Given the description of an element on the screen output the (x, y) to click on. 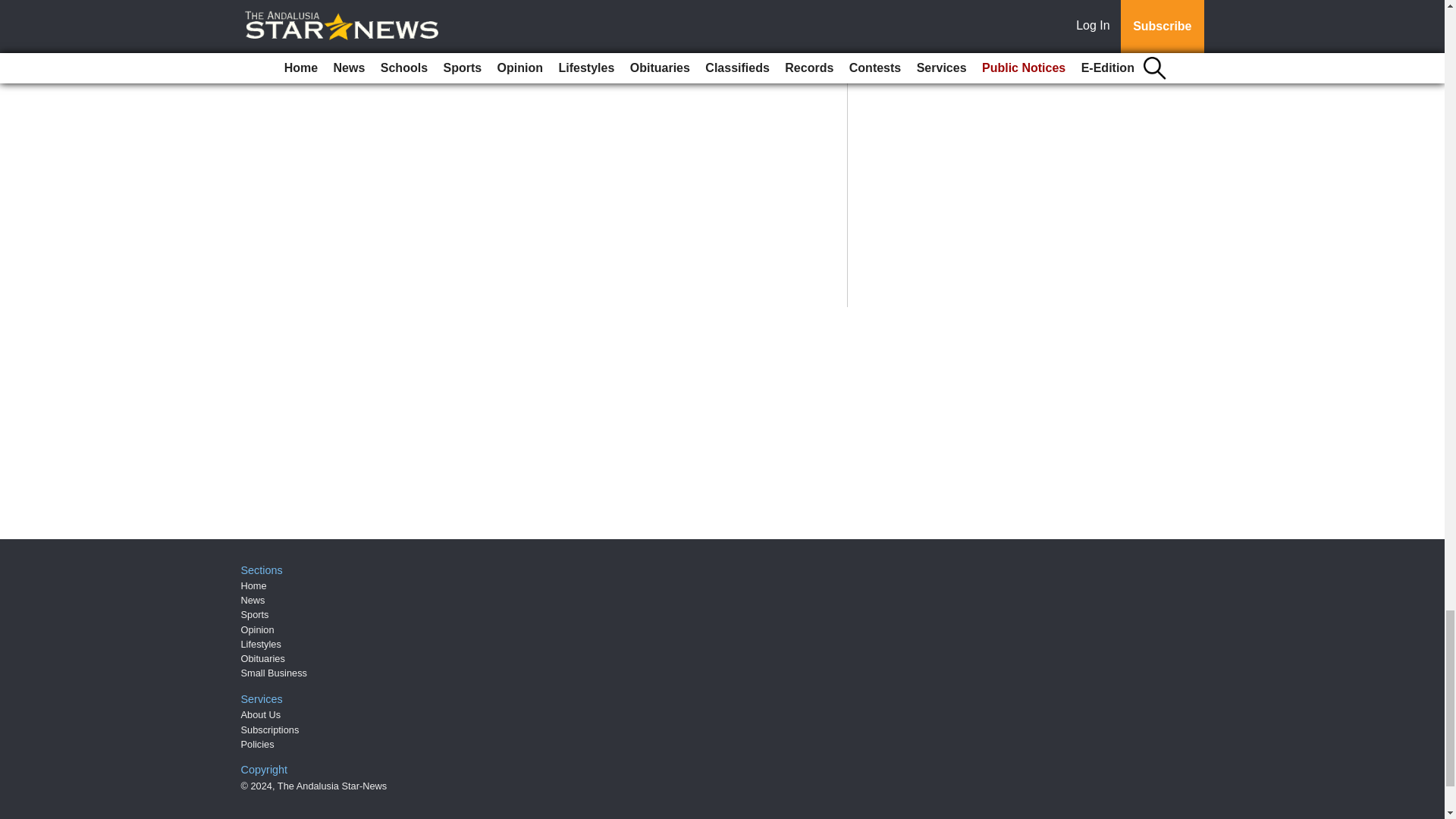
News (252, 600)
Home (253, 585)
Opinion (258, 629)
Sports (255, 614)
Lifestyles (261, 644)
